Given the description of an element on the screen output the (x, y) to click on. 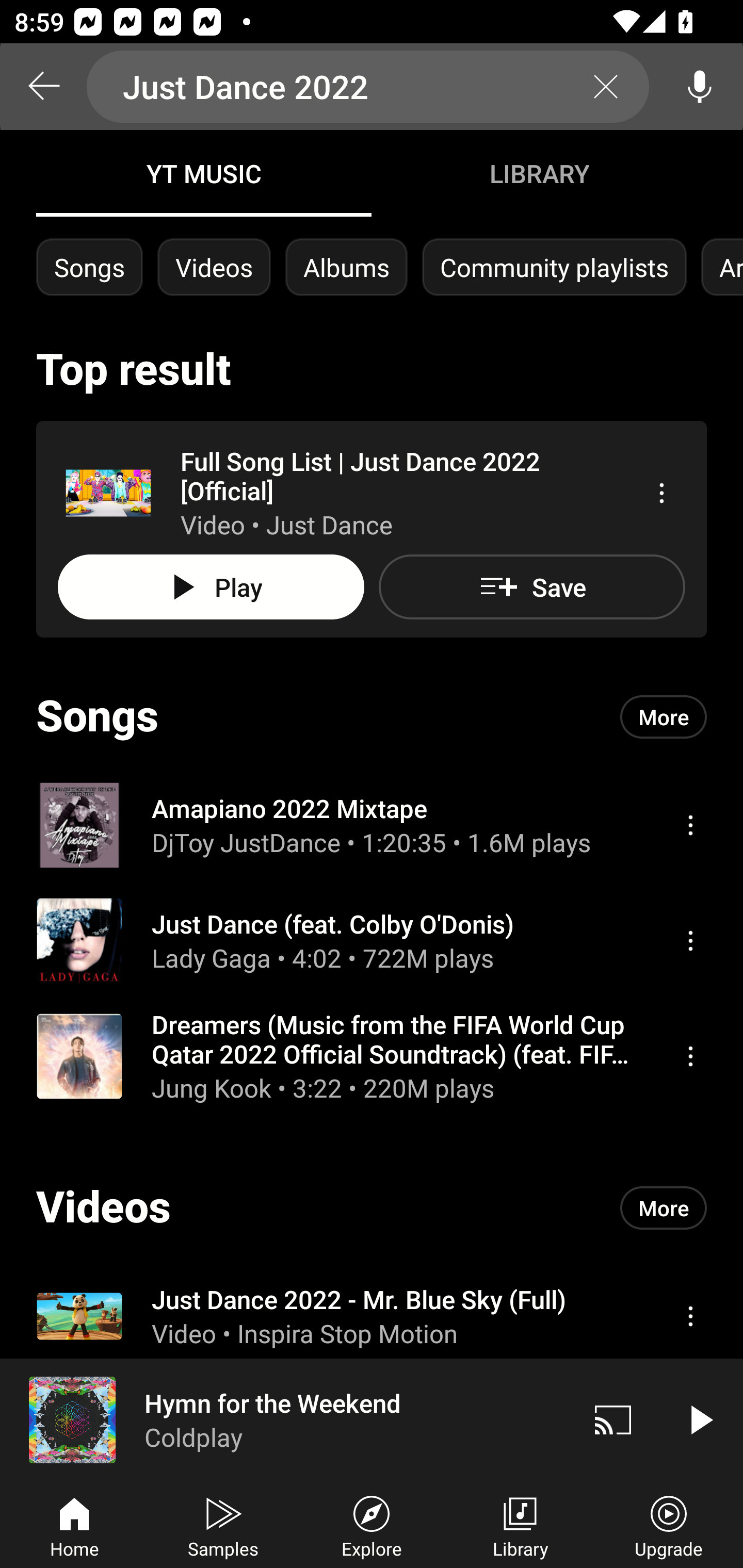
Search back (43, 86)
Just Dance 2022 (367, 86)
Clear search (605, 86)
Voice search (699, 86)
Library LIBRARY (538, 173)
Menu (661, 492)
Play PLAY ALL (210, 587)
Save Save to playlist (531, 587)
Songs More More (371, 716)
More (663, 716)
Menu (690, 824)
Menu (690, 940)
Menu (690, 1056)
Videos More More (371, 1208)
More (663, 1207)
Menu (690, 1315)
Hymn for the Weekend Coldplay (284, 1419)
Cast. Disconnected (612, 1419)
Play video (699, 1419)
Home (74, 1524)
Samples (222, 1524)
Explore (371, 1524)
Library (519, 1524)
Upgrade (668, 1524)
